Given the description of an element on the screen output the (x, y) to click on. 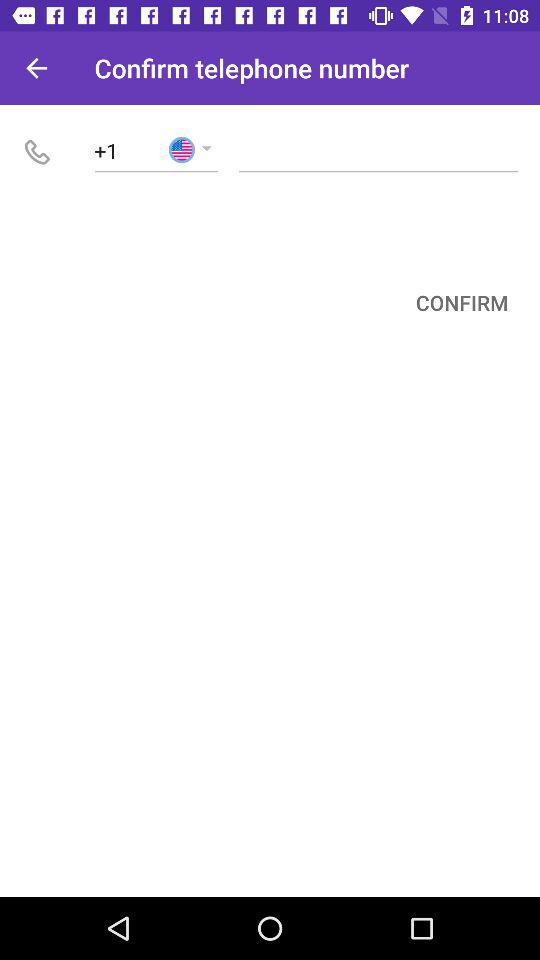
go back (36, 68)
